Given the description of an element on the screen output the (x, y) to click on. 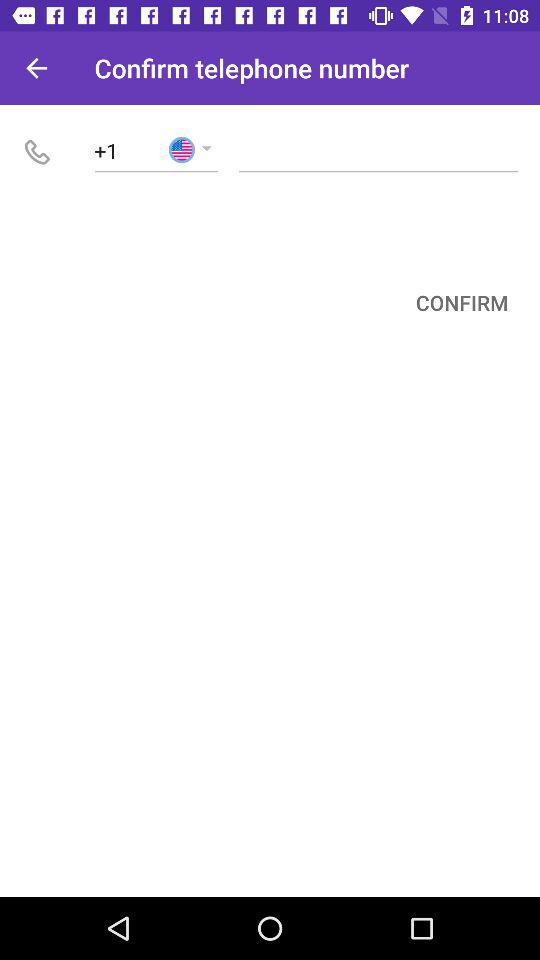
go back (36, 68)
